Given the description of an element on the screen output the (x, y) to click on. 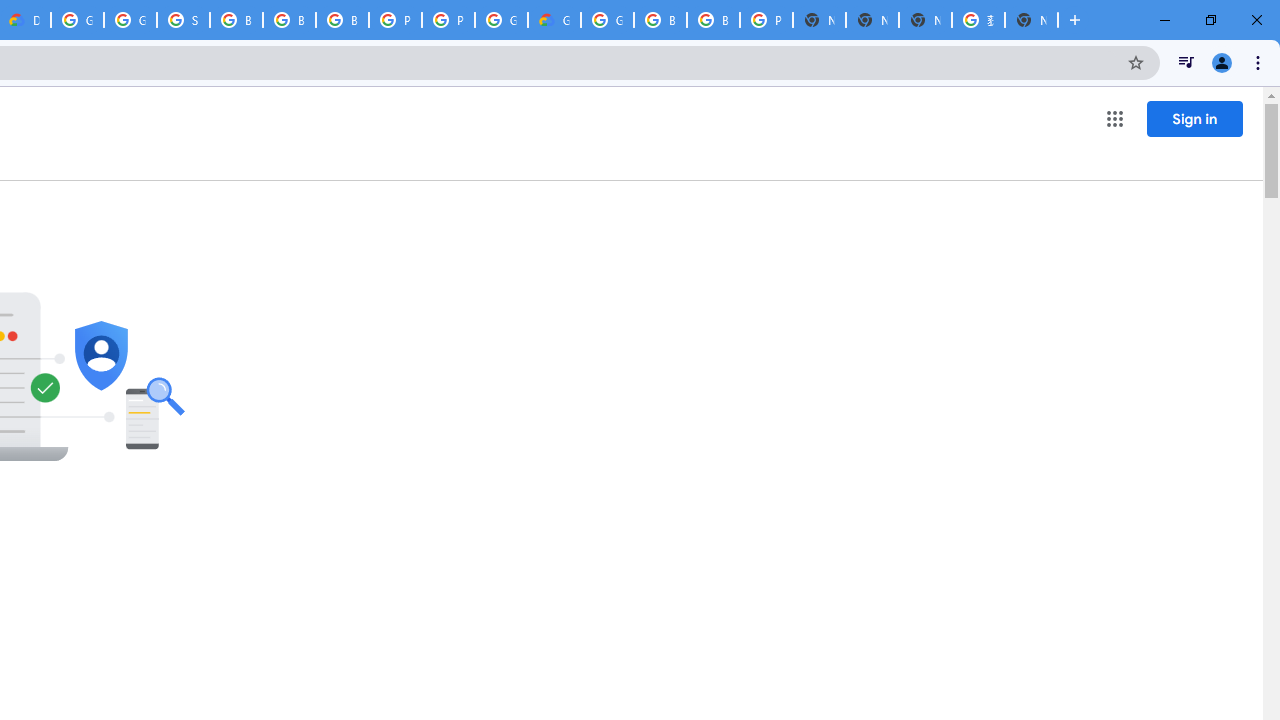
Minimize (1165, 20)
Google Cloud Platform (607, 20)
Google apps (1114, 118)
New Tab (819, 20)
Restore (1210, 20)
Close (1256, 20)
Browse Chrome as a guest - Computer - Google Chrome Help (342, 20)
Browse Chrome as a guest - Computer - Google Chrome Help (235, 20)
Browse Chrome as a guest - Computer - Google Chrome Help (713, 20)
Google Cloud Platform (77, 20)
